Given the description of an element on the screen output the (x, y) to click on. 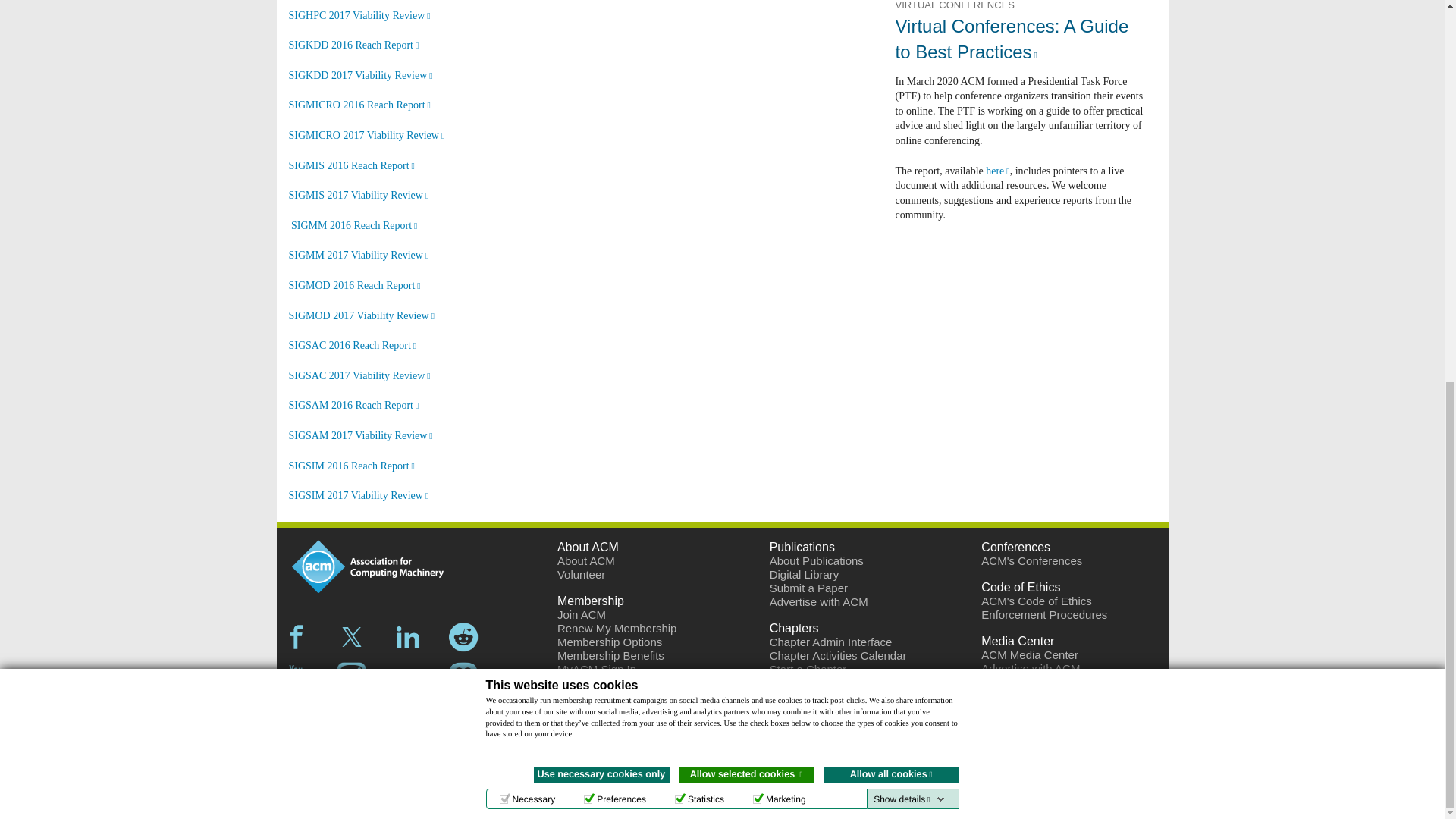
Use necessary cookies only (601, 61)
Allow all cookies (891, 61)
Allow selected cookies (745, 61)
Show details (908, 85)
